Given the description of an element on the screen output the (x, y) to click on. 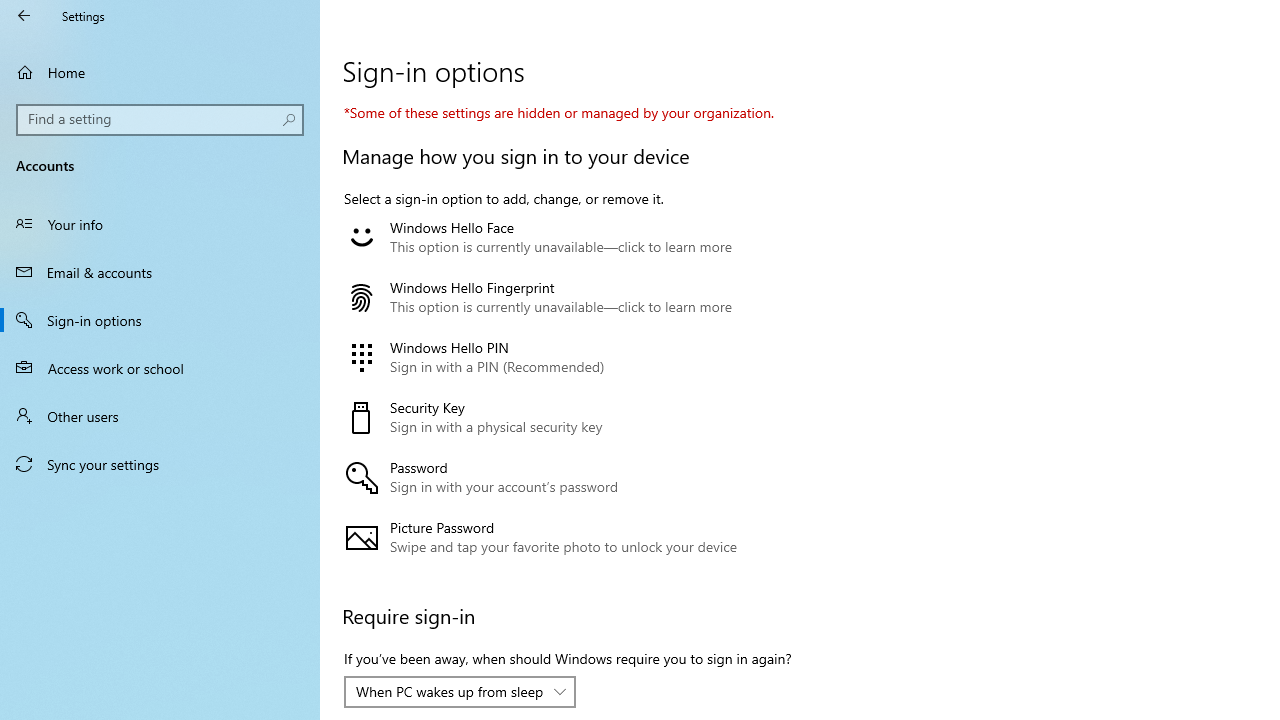
Back (24, 15)
Windows Hello PIN Sign in with a PIN (Recommended) (563, 358)
Access work or school (160, 367)
Sign-in options (160, 319)
Other users (160, 415)
Your info (160, 223)
Home (160, 71)
Email & accounts (160, 271)
Security Key Sign in with a physical security key (563, 417)
Search box, Find a setting (160, 119)
When PC wakes up from sleep (449, 691)
